Given the description of an element on the screen output the (x, y) to click on. 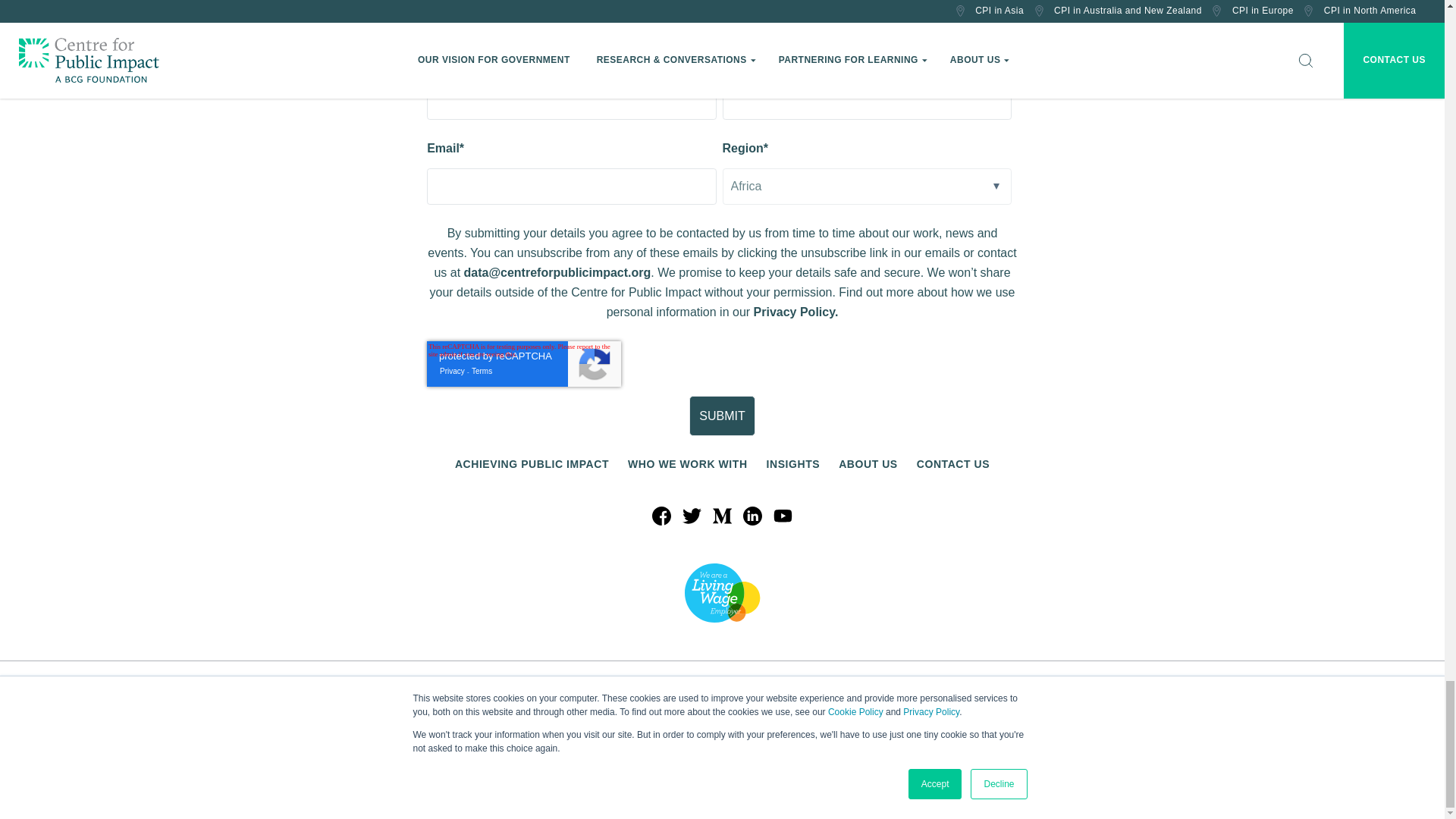
Submit (721, 415)
reCAPTCHA (523, 363)
